Given the description of an element on the screen output the (x, y) to click on. 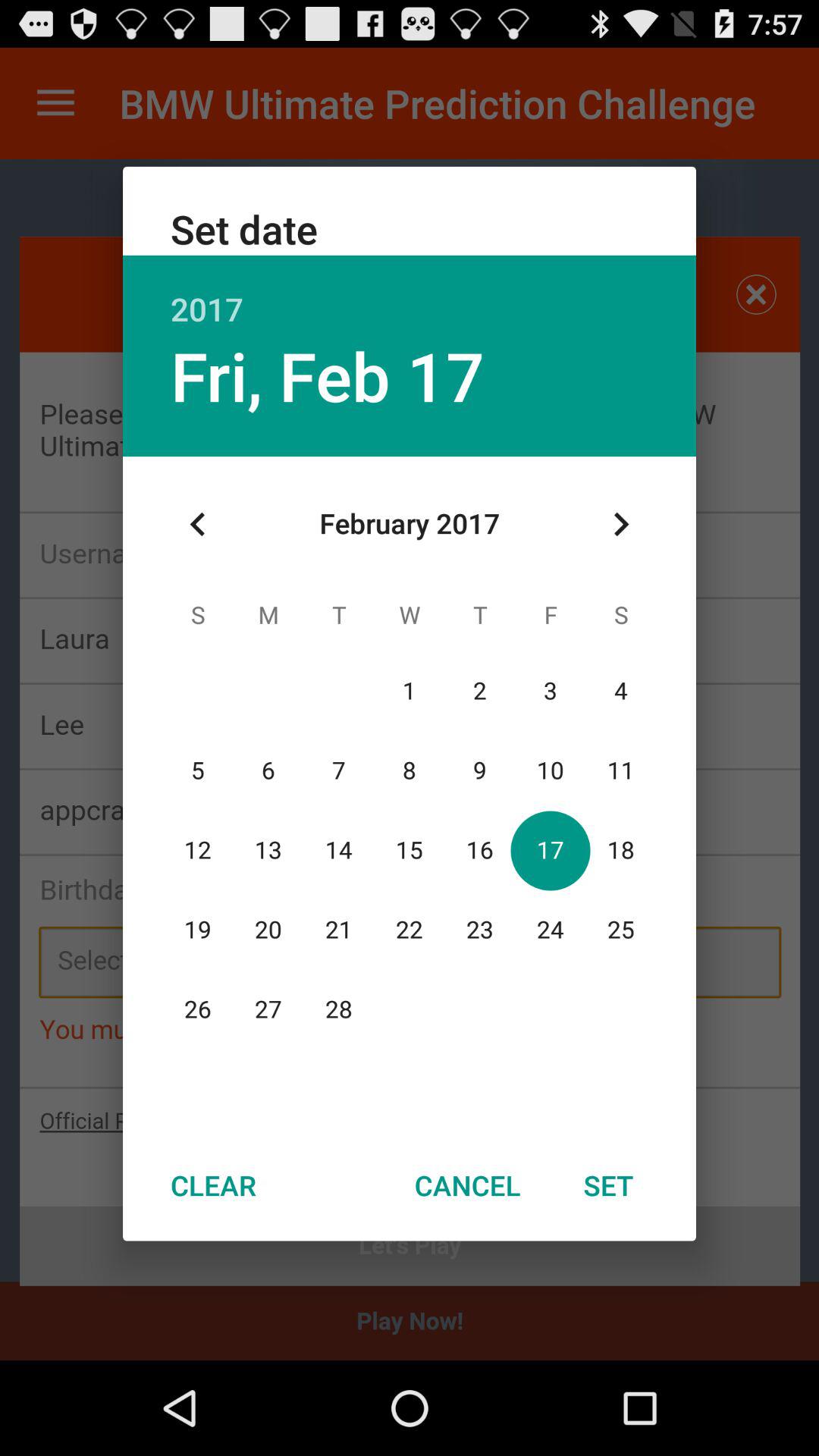
open item next to clear item (467, 1185)
